Given the description of an element on the screen output the (x, y) to click on. 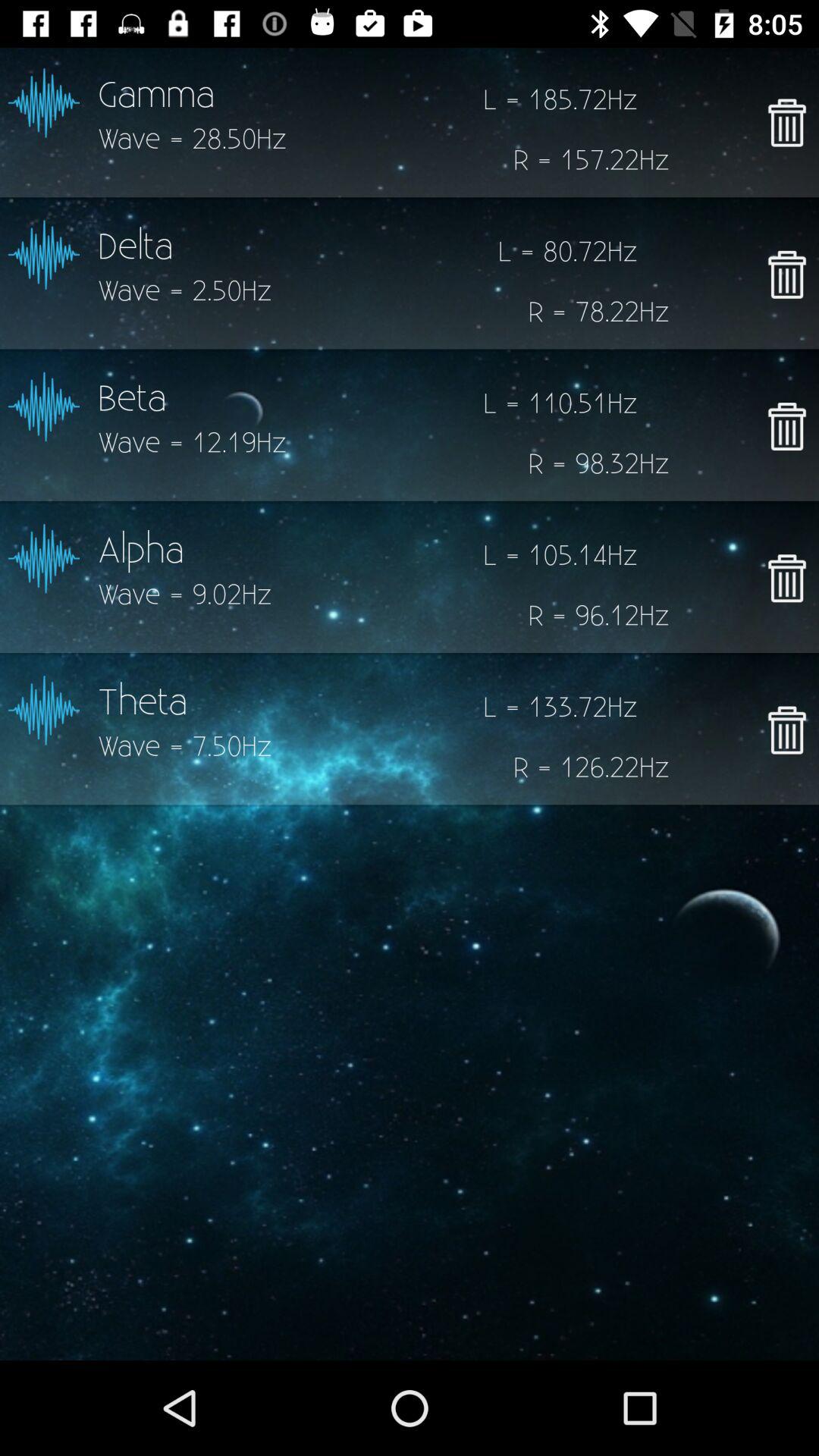
delete wave (787, 122)
